Given the description of an element on the screen output the (x, y) to click on. 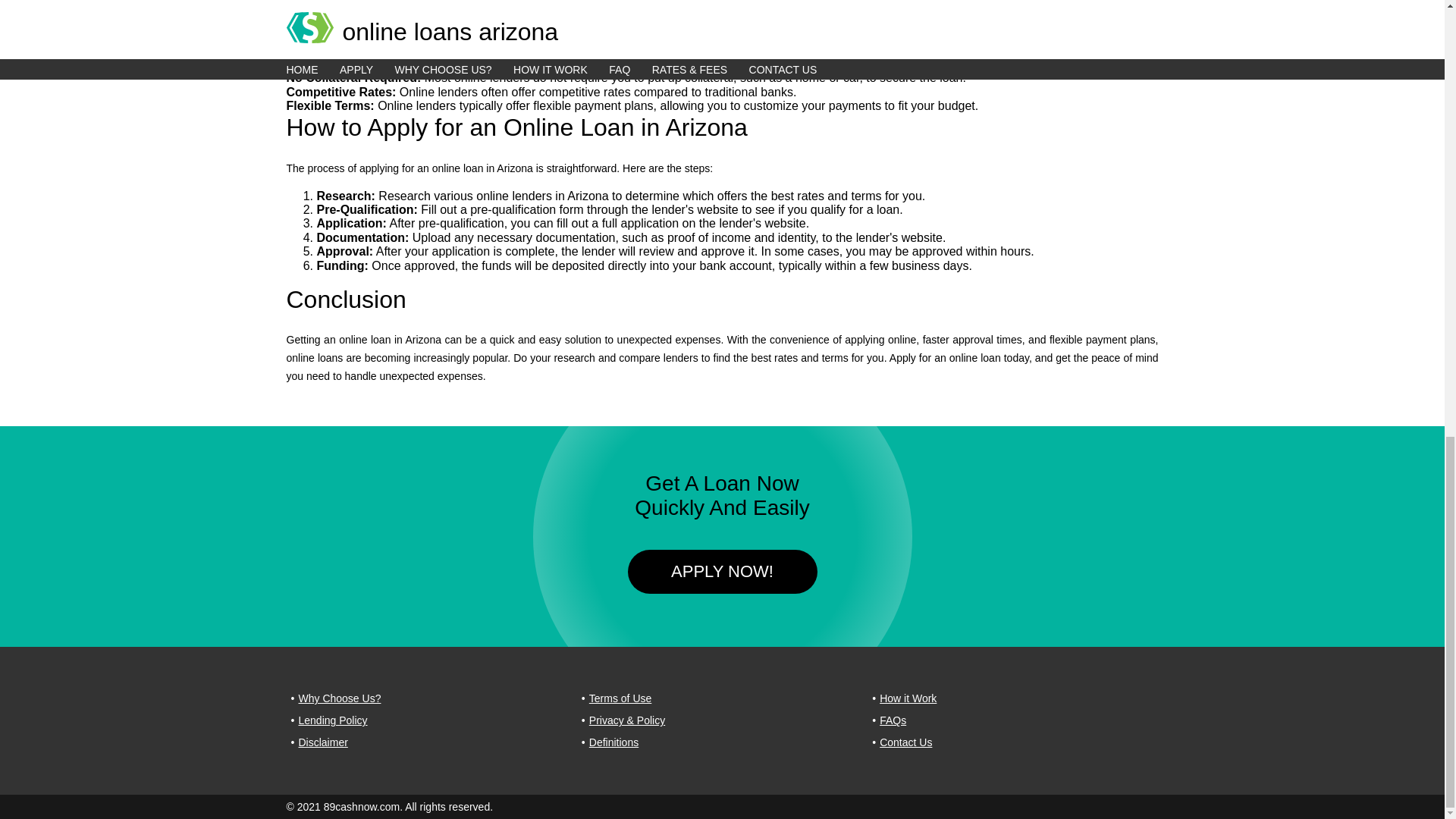
Lending Policy (333, 721)
Definitions (614, 742)
APPLY NOW! (721, 572)
Disclaimer (322, 742)
Why Choose Us? (339, 698)
Terms of Use (619, 698)
APPLY NOW! (721, 571)
FAQs (892, 721)
Contact Us (905, 742)
How it Work (907, 698)
